Given the description of an element on the screen output the (x, y) to click on. 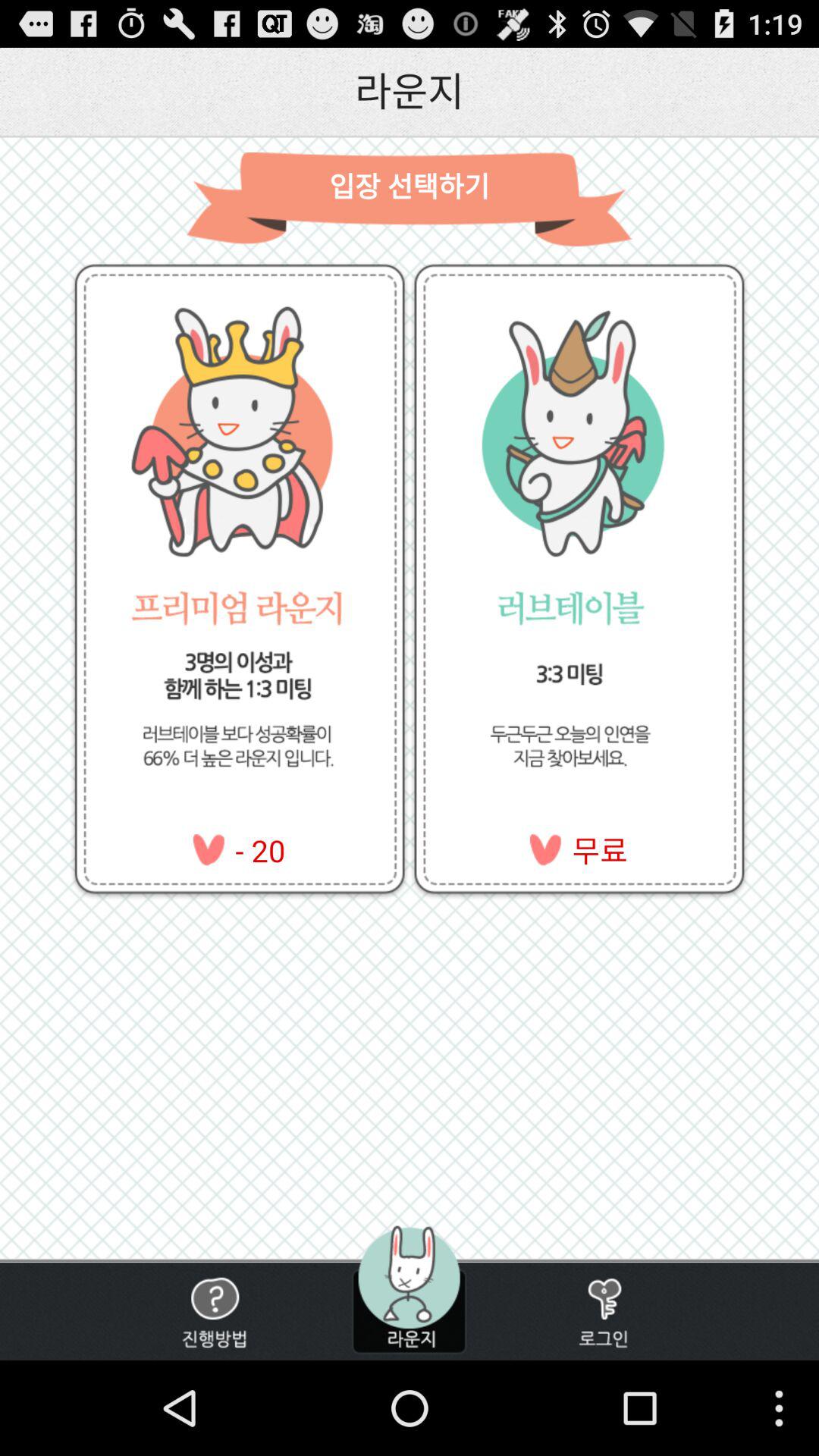
select option (213, 1311)
